Given the description of an element on the screen output the (x, y) to click on. 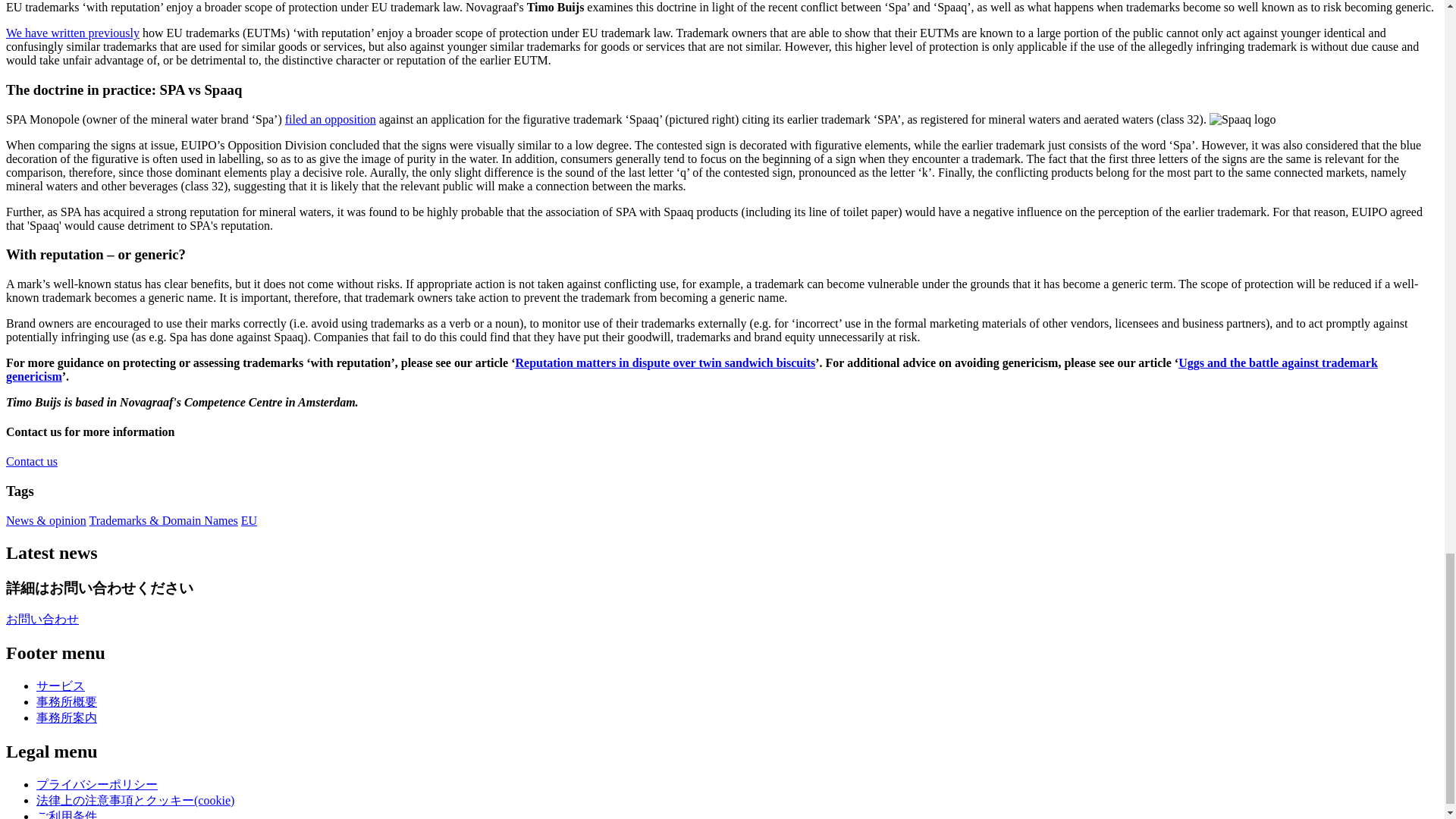
We have written previously (72, 32)
Reputation matters in dispute over twin sandwich biscuits (665, 362)
Contact us (31, 461)
Uggs and the battle against trademark genericism (691, 369)
filed an opposition (330, 118)
EU (249, 520)
